Given the description of an element on the screen output the (x, y) to click on. 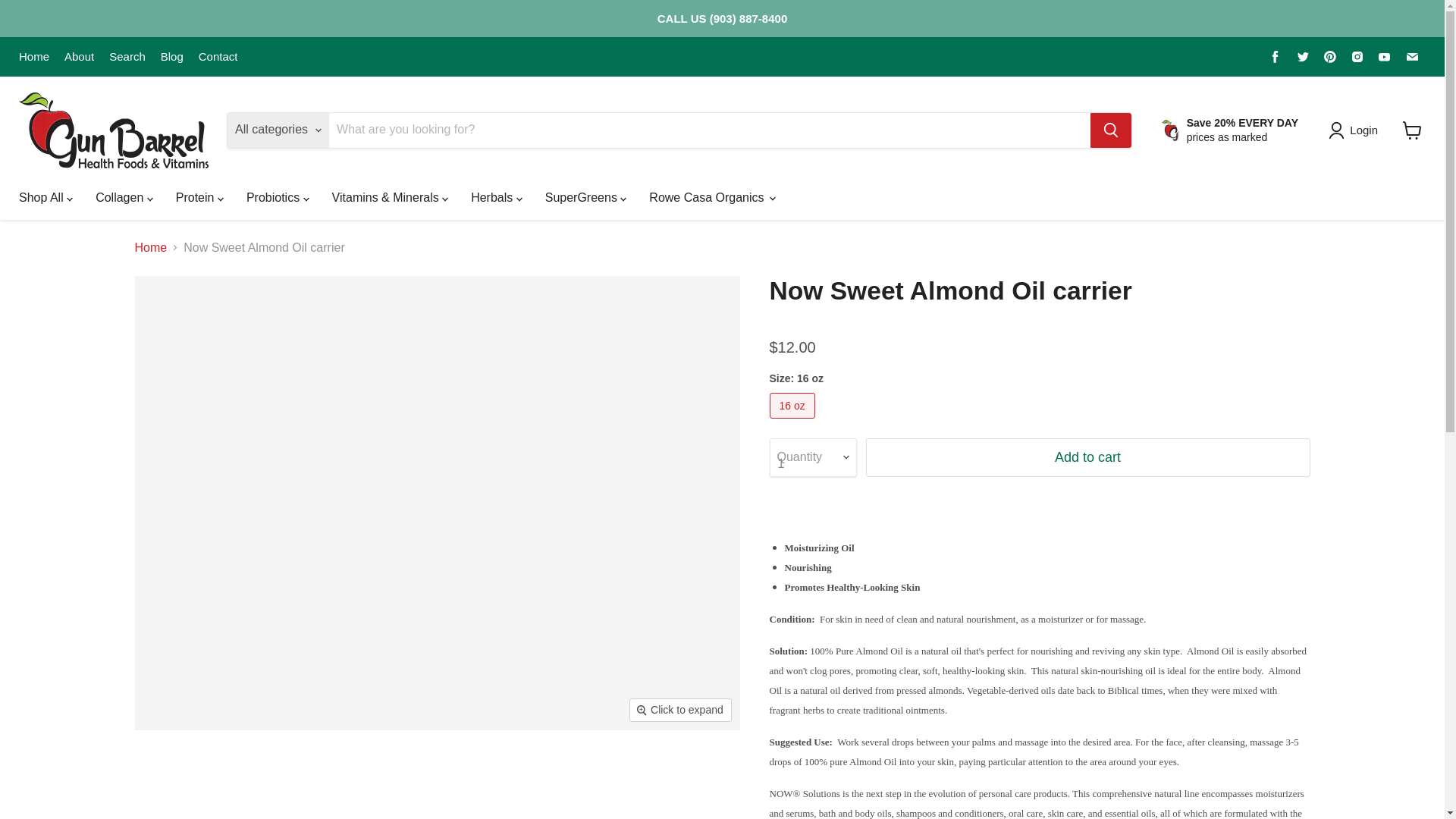
Search (127, 56)
Twitter (1302, 55)
View cart (1411, 130)
Find us on Facebook (1275, 55)
Find us on Twitter (1302, 55)
About (79, 56)
Home (33, 56)
Find us on Email (1411, 55)
Email (1411, 55)
Youtube (1384, 55)
Find us on Instagram (1357, 55)
Find us on Pinterest (1329, 55)
Login (1363, 130)
Facebook (1275, 55)
Blog (171, 56)
